Given the description of an element on the screen output the (x, y) to click on. 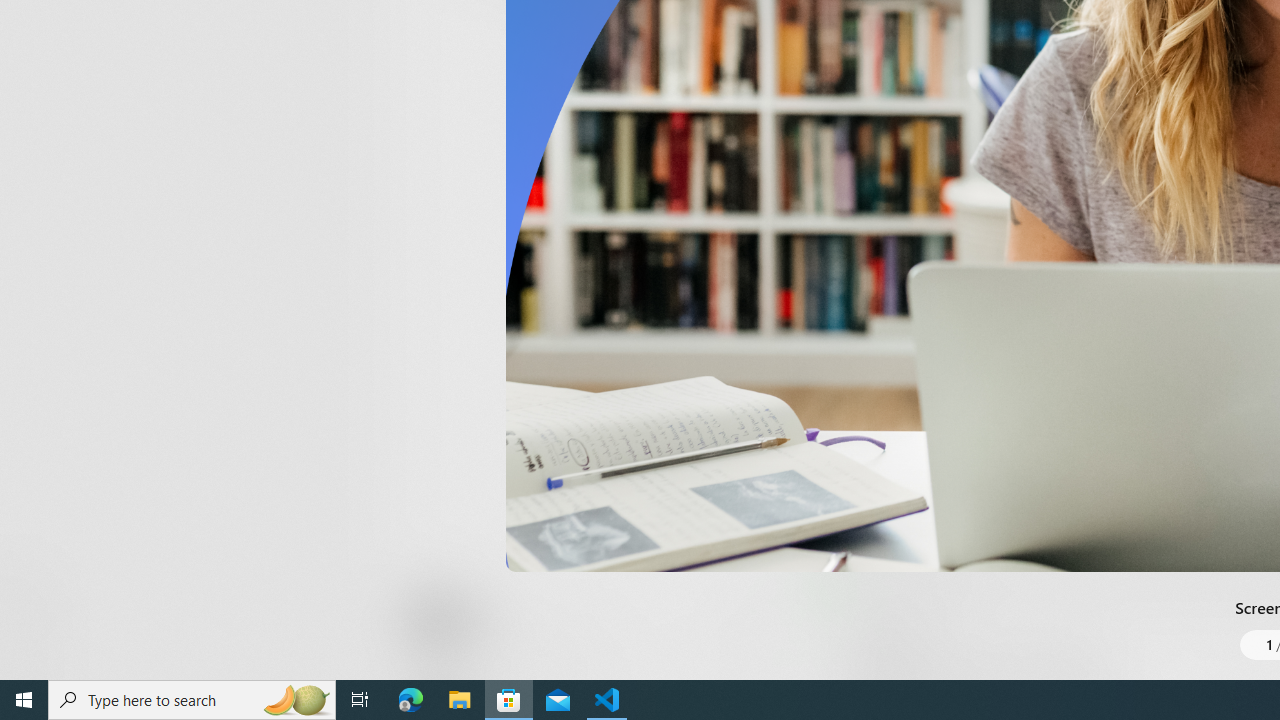
Social (579, 23)
Age rating: TEEN. Click for more information. (488, 619)
Share (746, 632)
Show all ratings and reviews (838, 454)
Show more (854, 31)
